Given the description of an element on the screen output the (x, y) to click on. 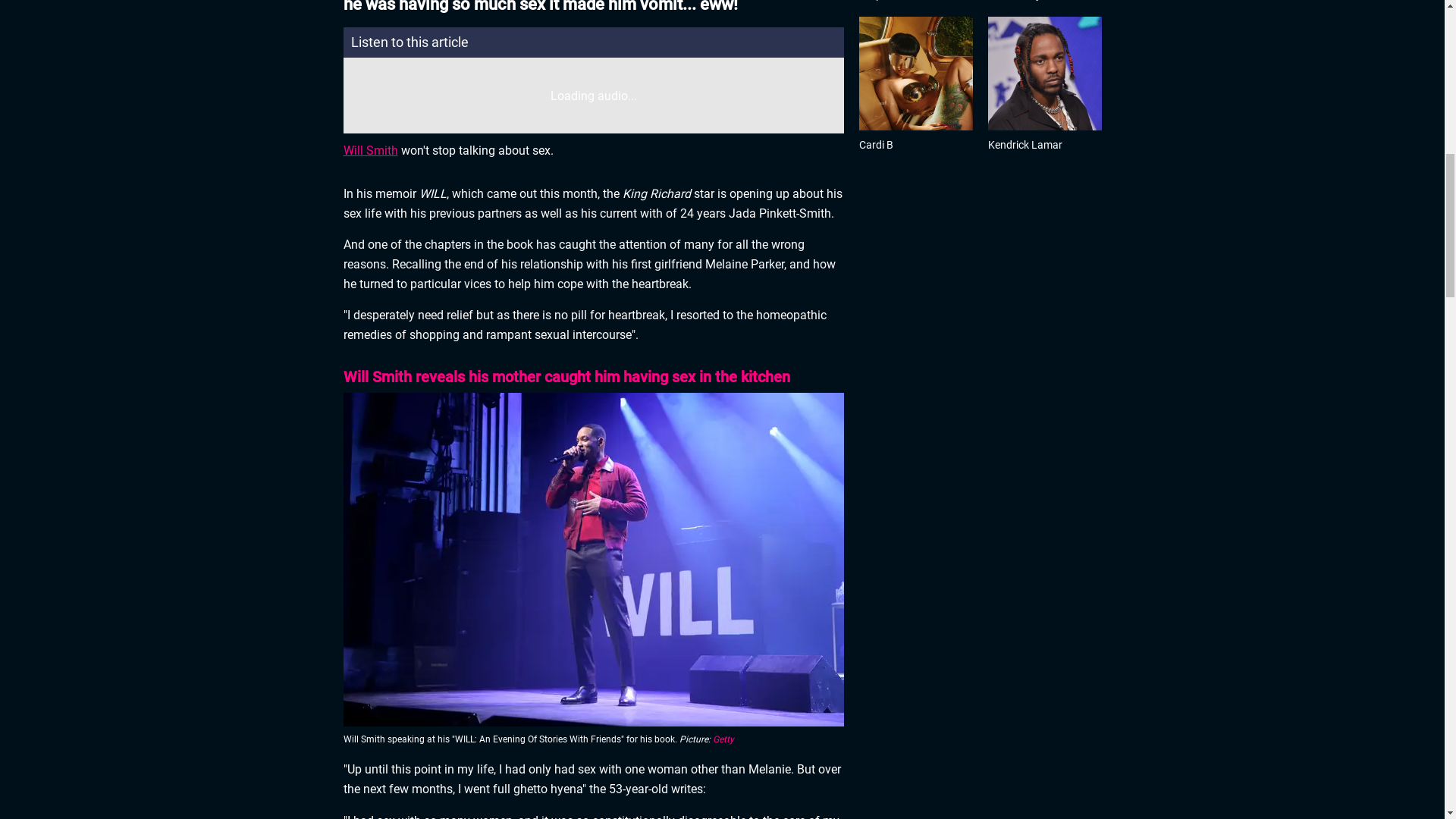
Getty (723, 738)
Will Smith (369, 150)
